Given the description of an element on the screen output the (x, y) to click on. 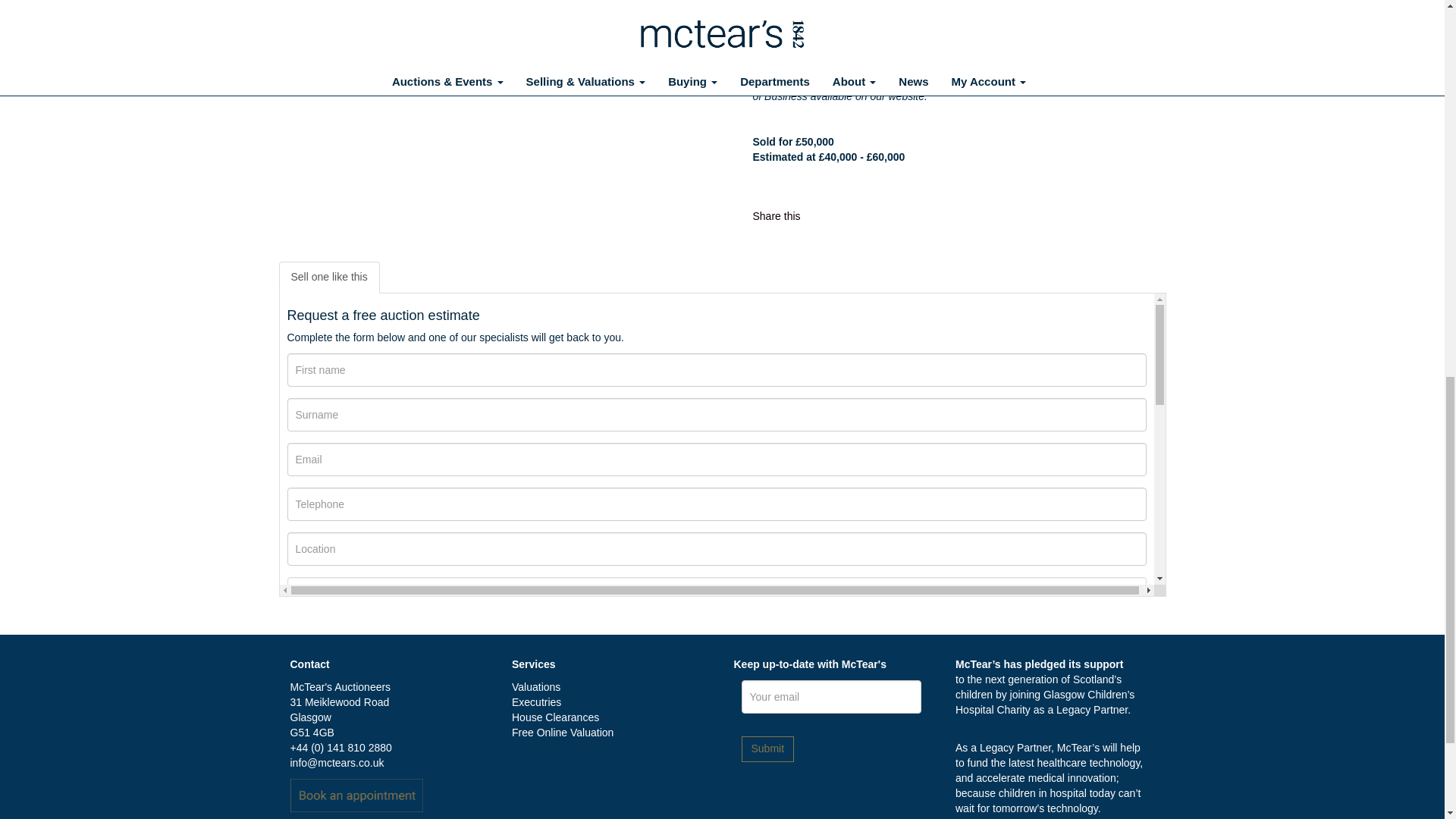
Book an appointment (355, 794)
Submit (767, 749)
